Given the description of an element on the screen output the (x, y) to click on. 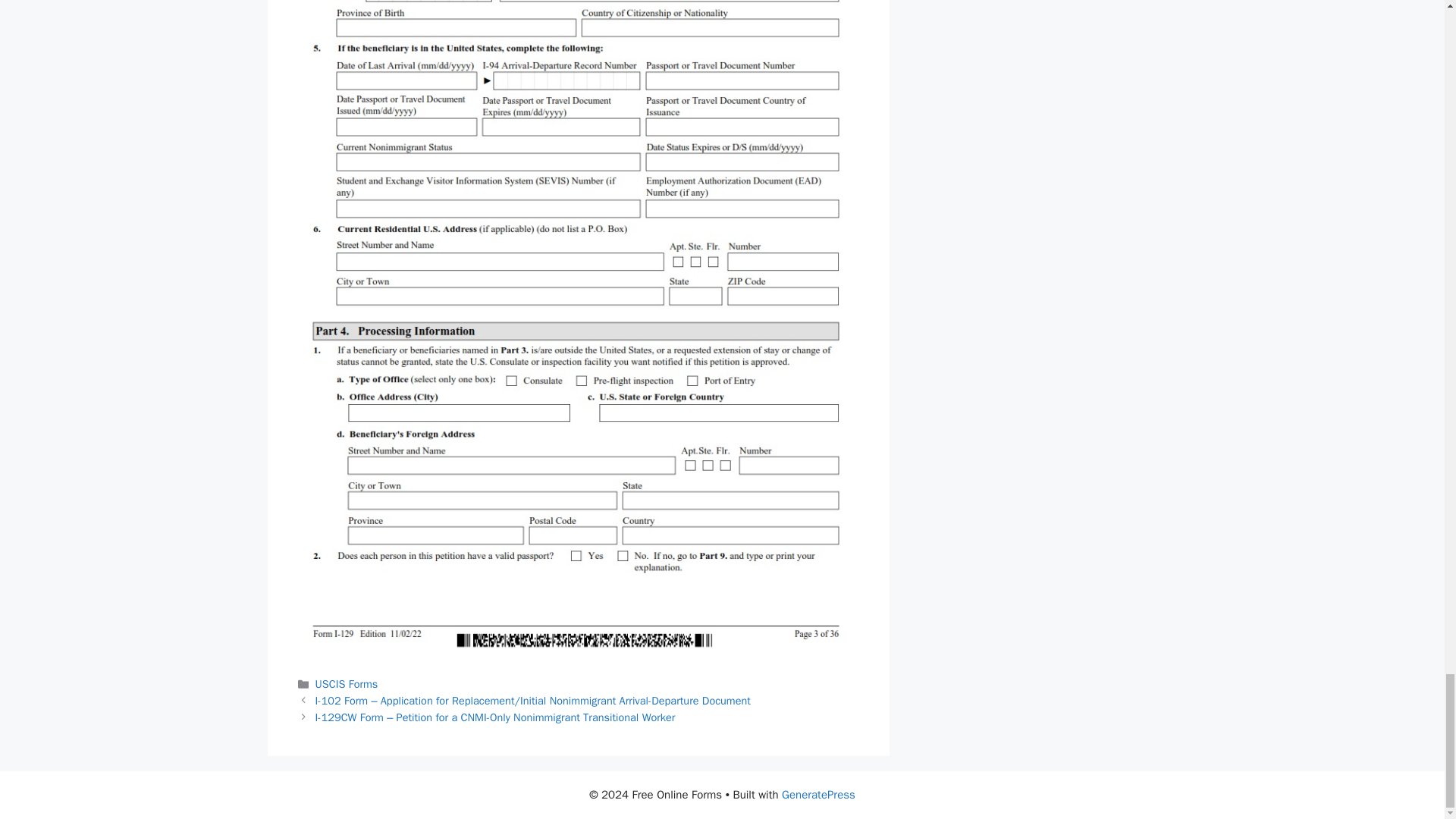
USCIS Forms (346, 684)
GeneratePress (818, 794)
